Given the description of an element on the screen output the (x, y) to click on. 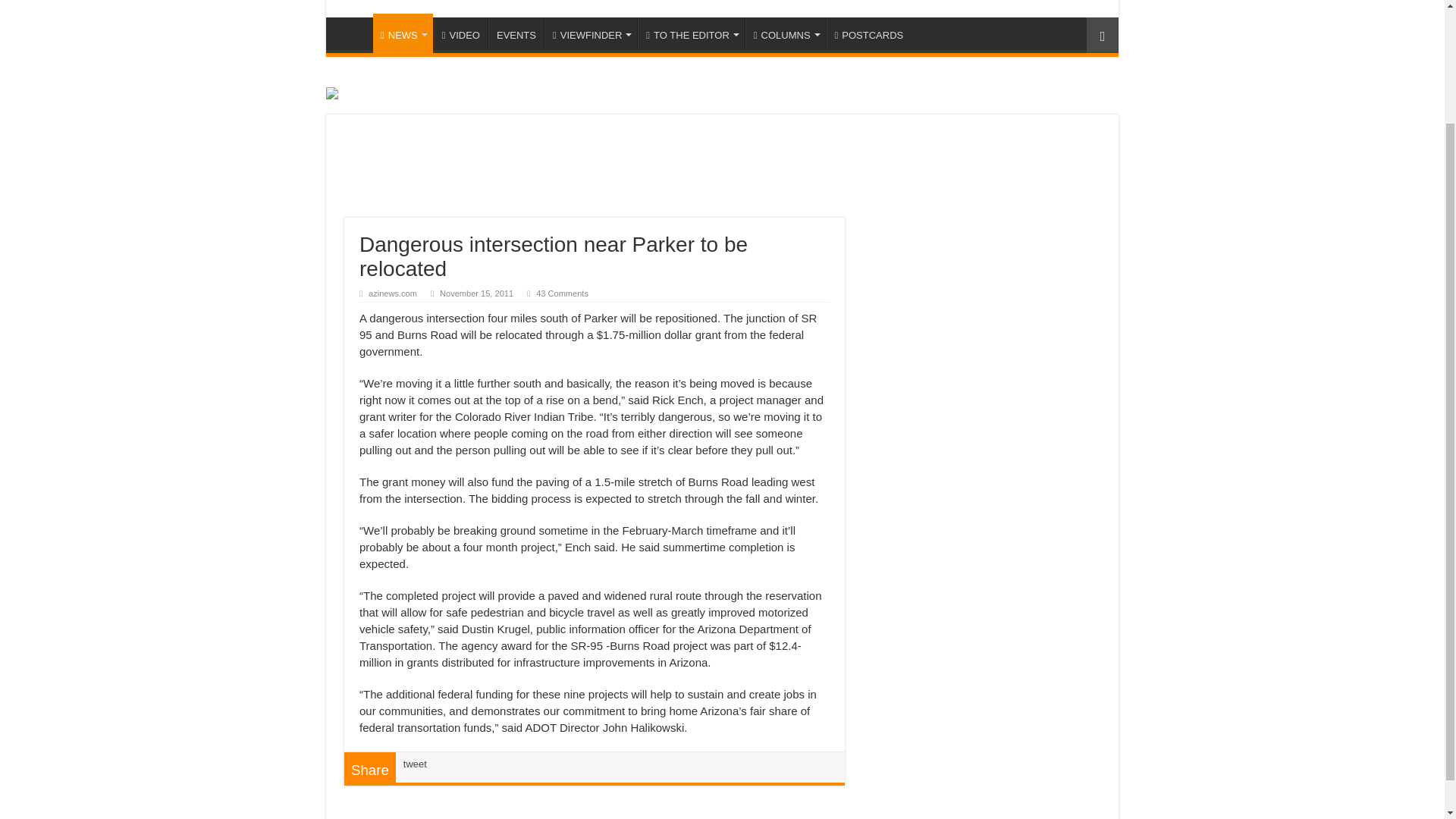
NEWS (402, 33)
EVENTS (515, 33)
HOME (352, 33)
VIEWFINDER (590, 33)
Parker Live (722, 8)
VIDEO (460, 33)
